Given the description of an element on the screen output the (x, y) to click on. 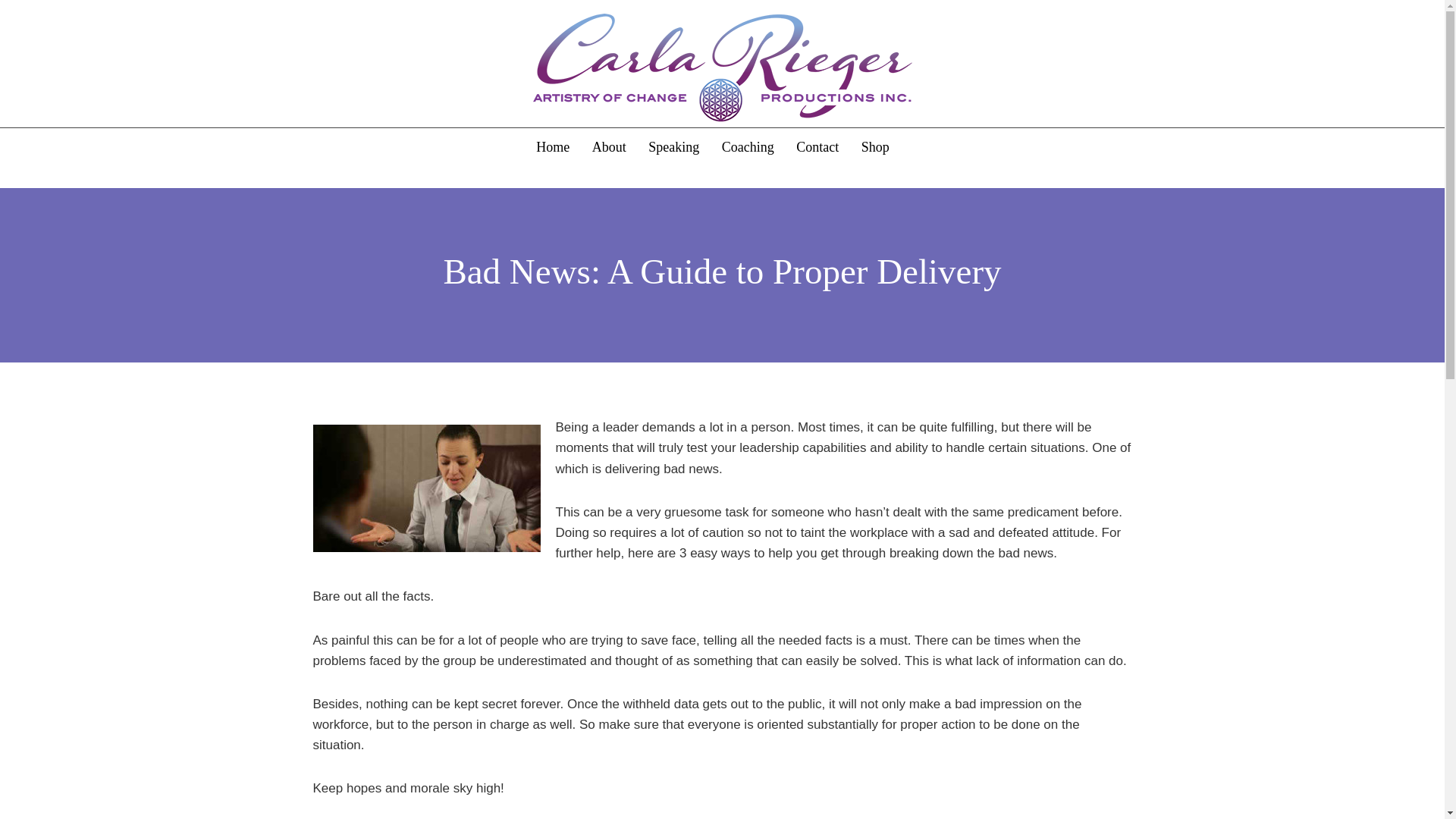
Coaching (748, 147)
Home (552, 147)
Speaking (672, 147)
Shop (875, 147)
Contact (817, 147)
About (609, 147)
